Given the description of an element on the screen output the (x, y) to click on. 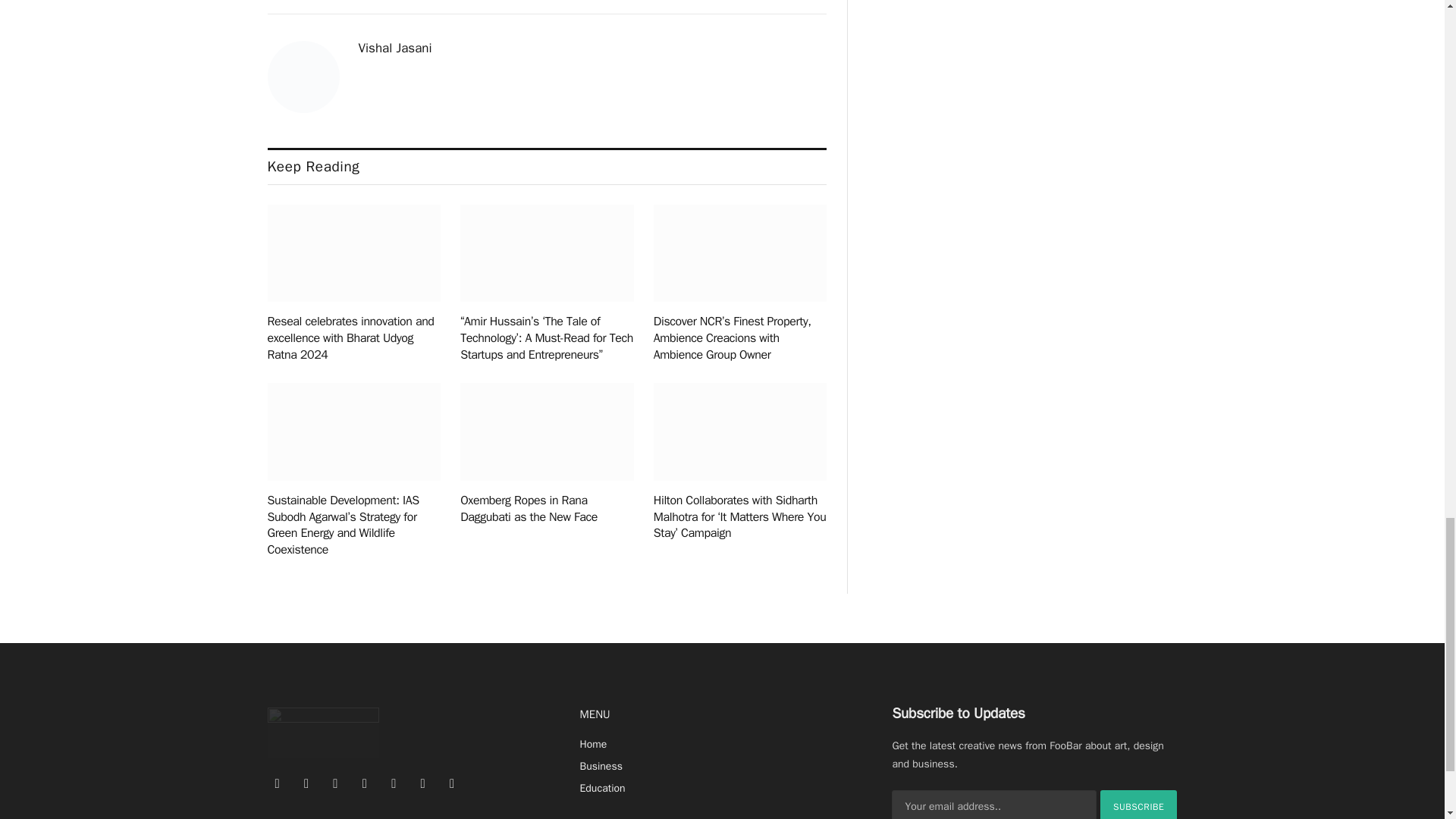
Posts by Vishal Jasani (394, 48)
Subscribe (1138, 804)
